Given the description of an element on the screen output the (x, y) to click on. 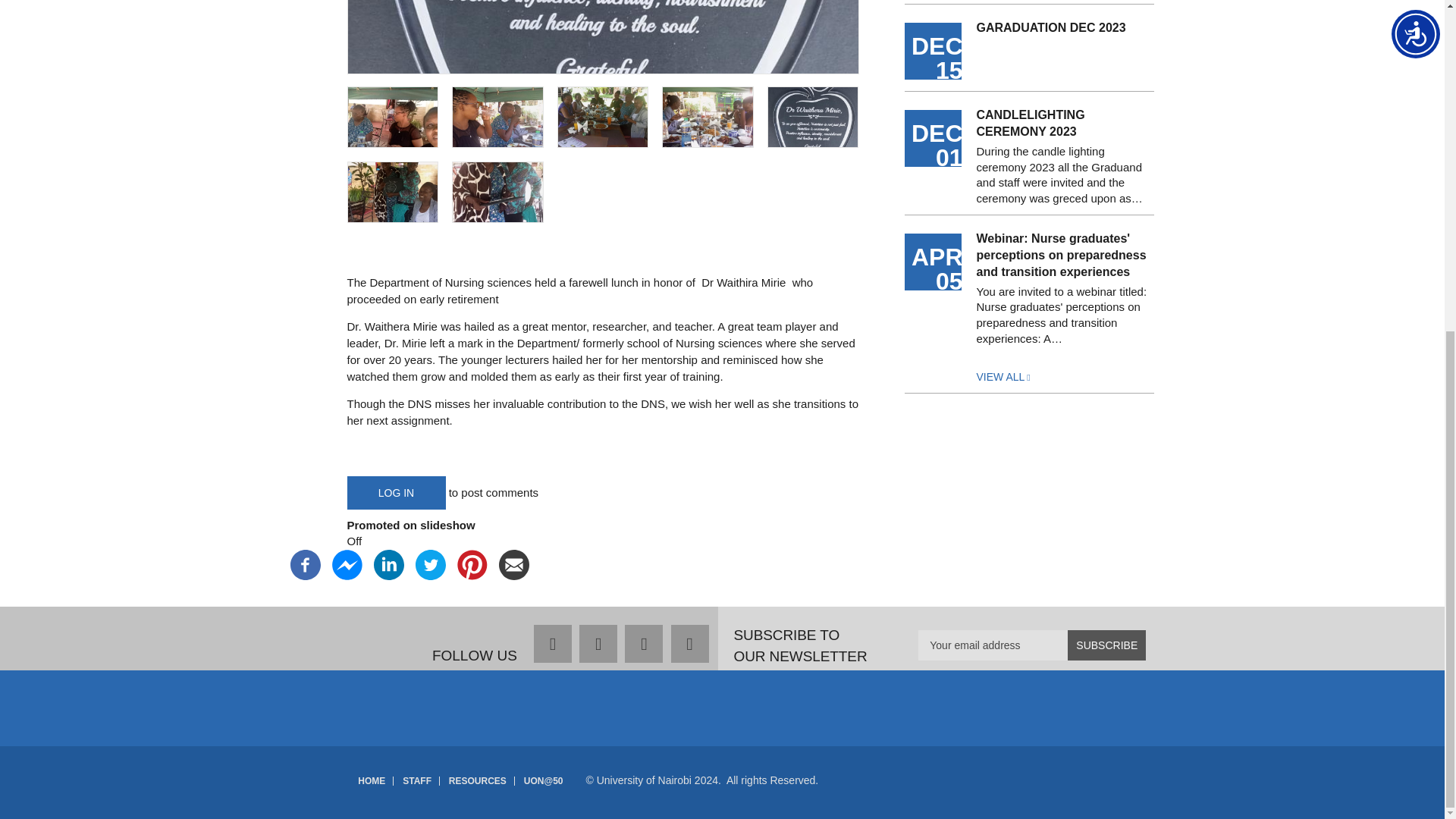
Dedicated to Dr Mirie (813, 116)
SUBSCRIBE (1106, 644)
Your email address (1031, 644)
Facebook (304, 563)
Twitter (429, 563)
Dr Wagoro gives Dr Mirie a token on  behalf of DNS (497, 191)
DNS Staff share Lunch with Dr Mirie (497, 116)
Linkedin (387, 563)
Facebook messenger (346, 563)
